Given the description of an element on the screen output the (x, y) to click on. 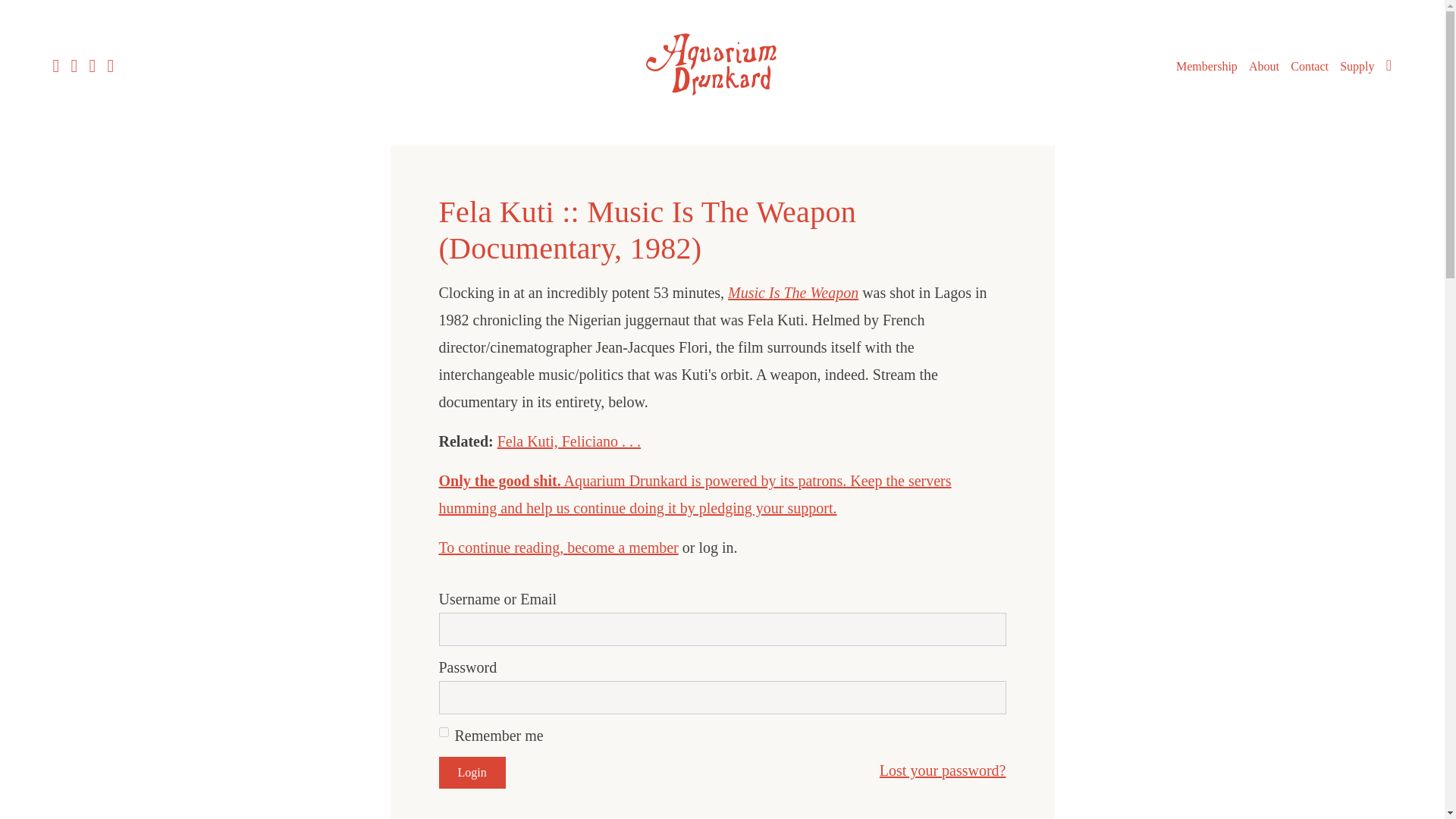
Aquarium Drunkard Merch Shop (1356, 66)
Supply (1356, 66)
Music Is The Weapon (793, 292)
Contact (1308, 66)
Lost your password? (942, 770)
Aquarium Drunkard (721, 64)
Login (471, 772)
Fela Kuti, Feliciano . . . (568, 441)
Contact Aquarium Drunkard (1308, 66)
About Aquarium Drunkard (1264, 66)
Login (471, 772)
Membership (1206, 66)
About (1264, 66)
Aquarium Drunkard (721, 100)
1 (443, 732)
